Given the description of an element on the screen output the (x, y) to click on. 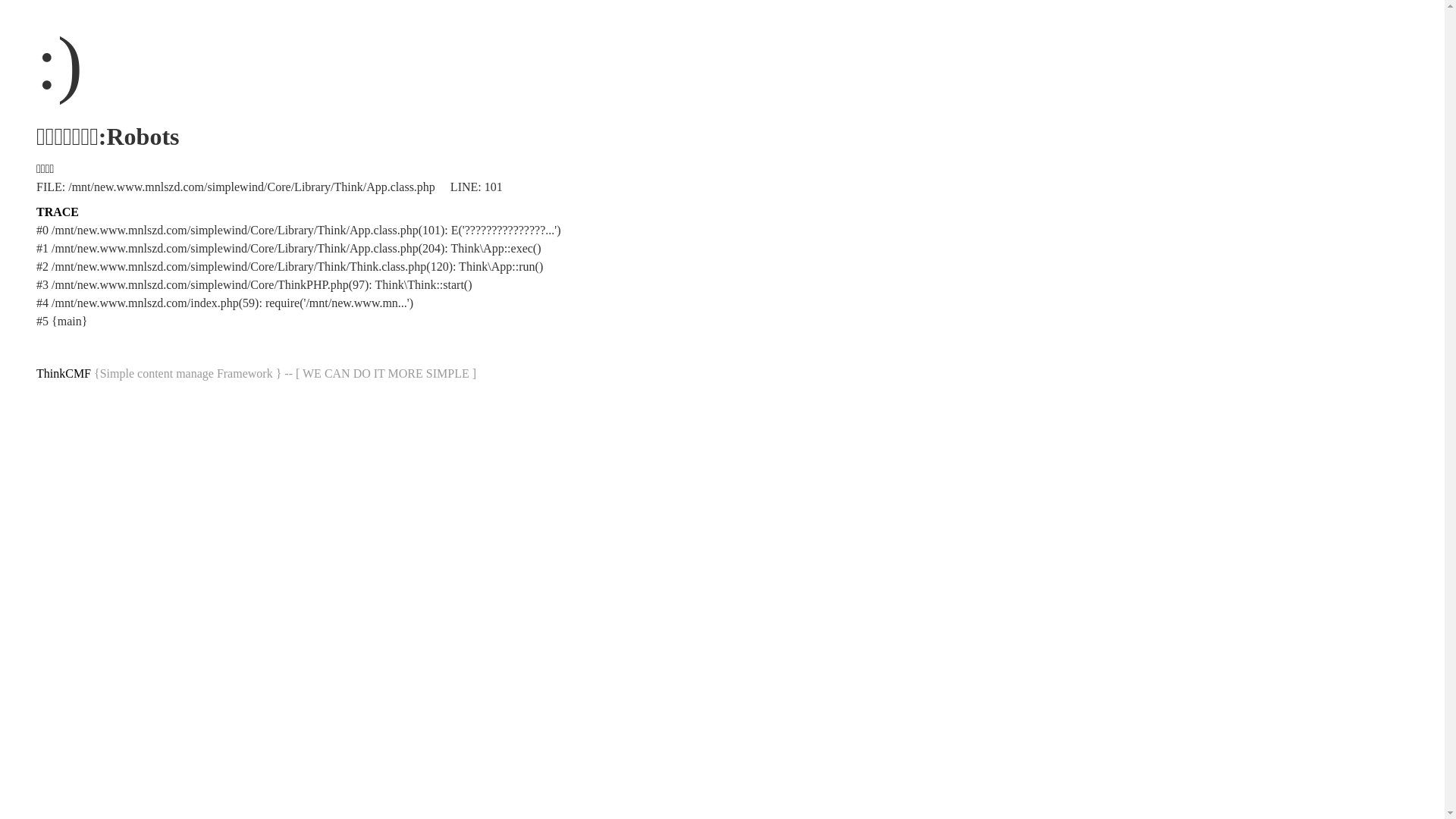
ThinkCMF Element type: text (63, 373)
